Given the description of an element on the screen output the (x, y) to click on. 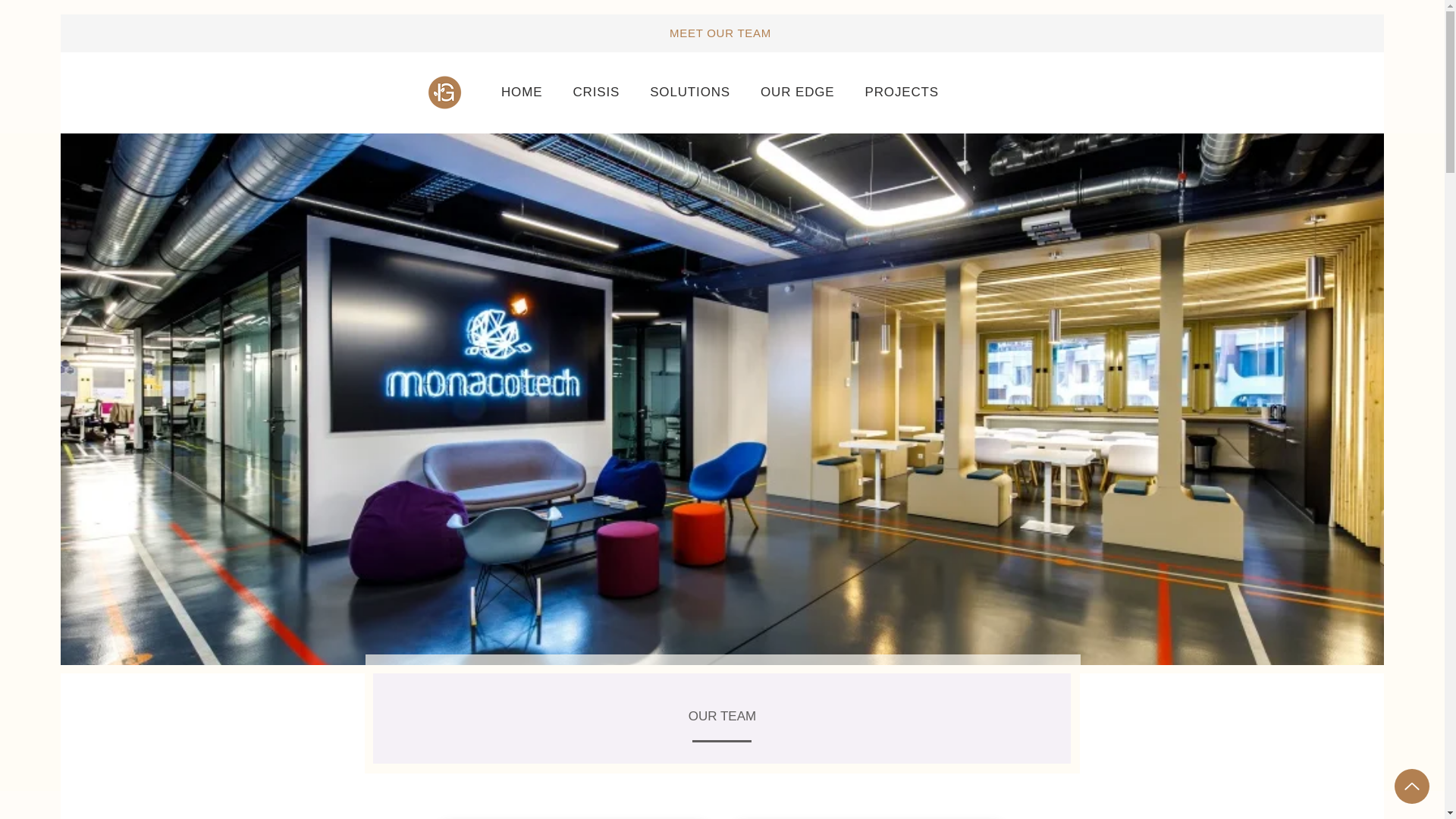
HOME (521, 91)
OUR EDGE (796, 91)
MEET OUR TEAM (720, 32)
SOLUTIONS (690, 91)
CRISIS (595, 91)
